Given the description of an element on the screen output the (x, y) to click on. 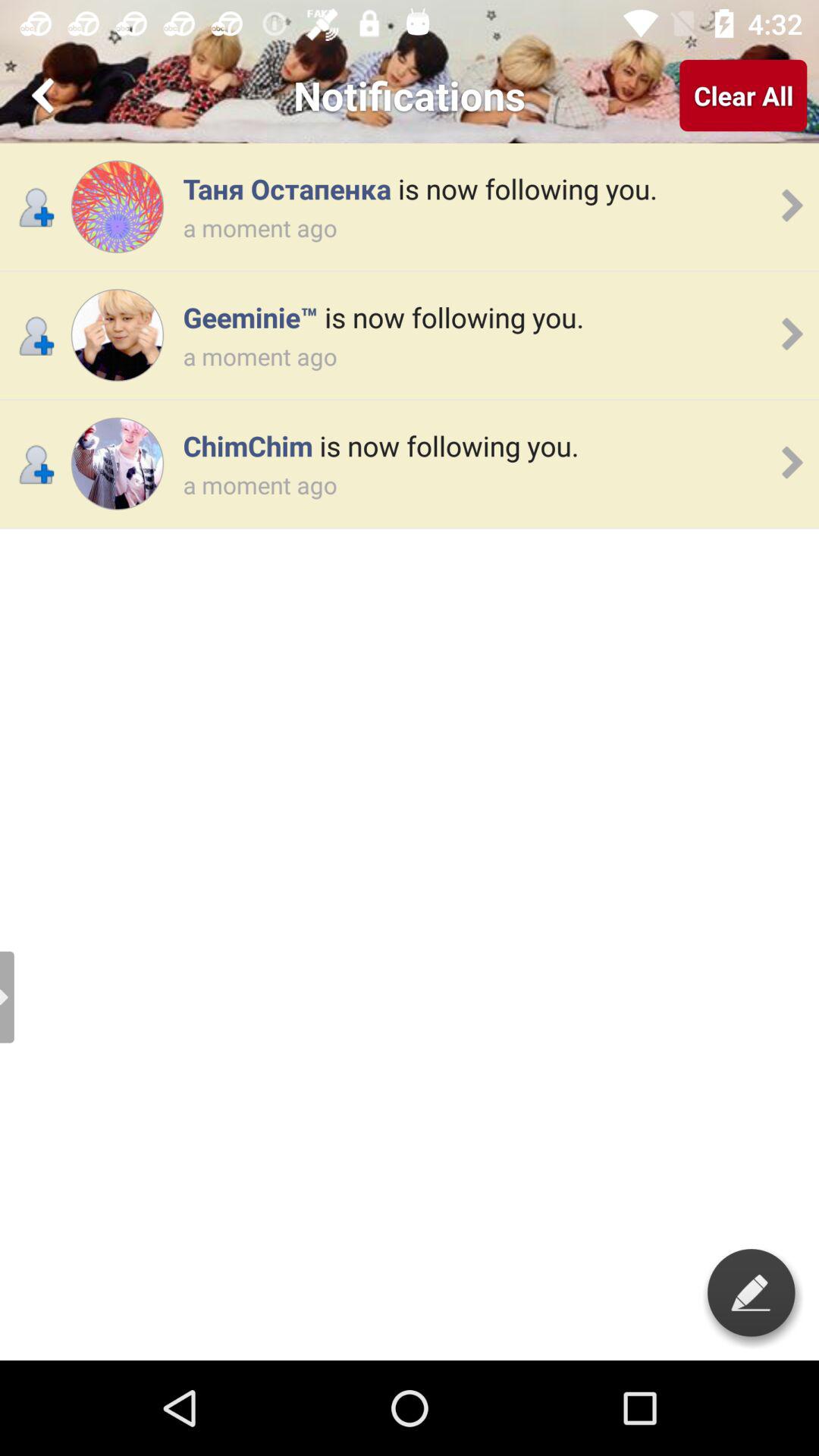
open profile (117, 206)
